Given the description of an element on the screen output the (x, y) to click on. 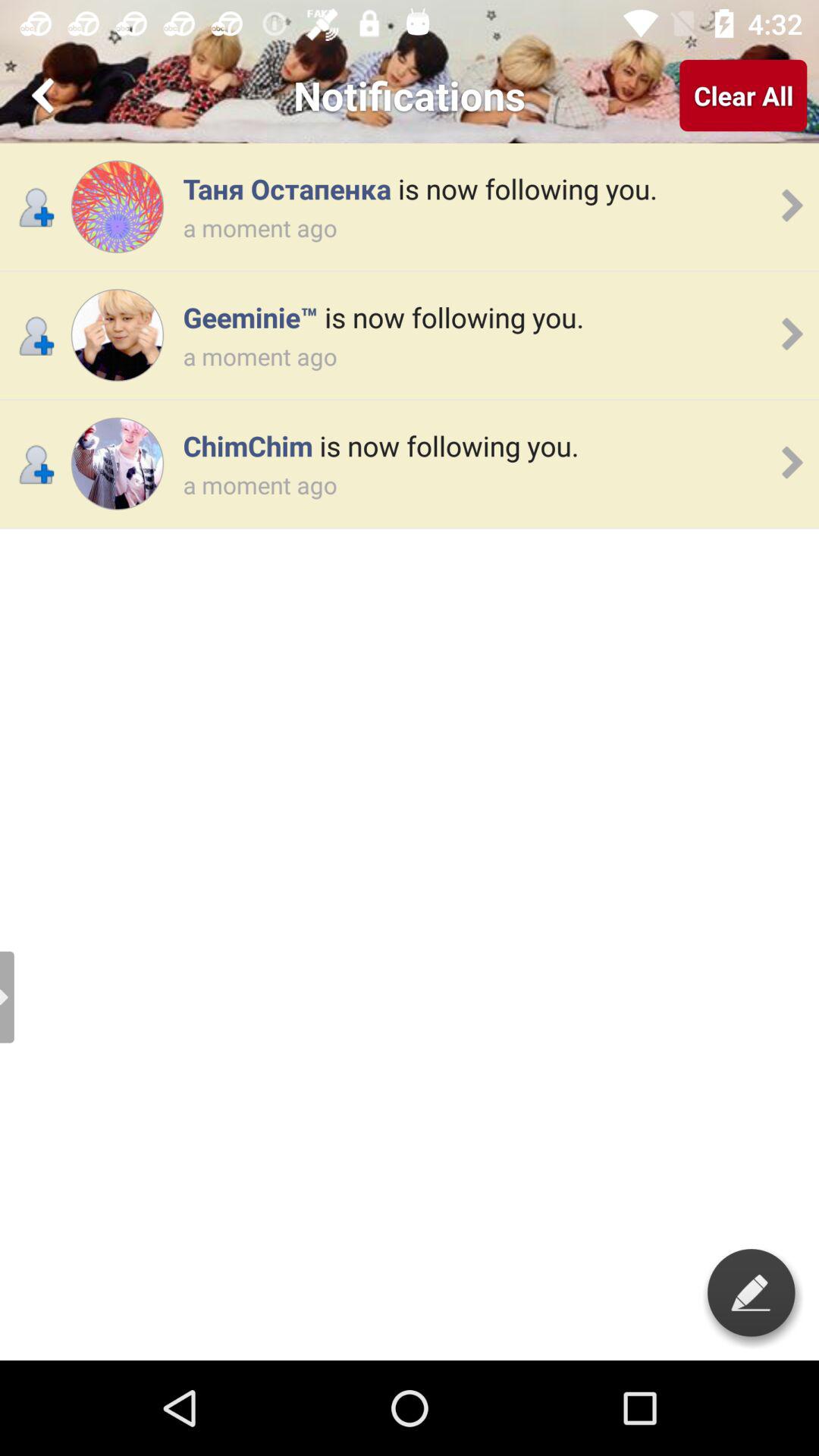
open profile (117, 206)
